Given the description of an element on the screen output the (x, y) to click on. 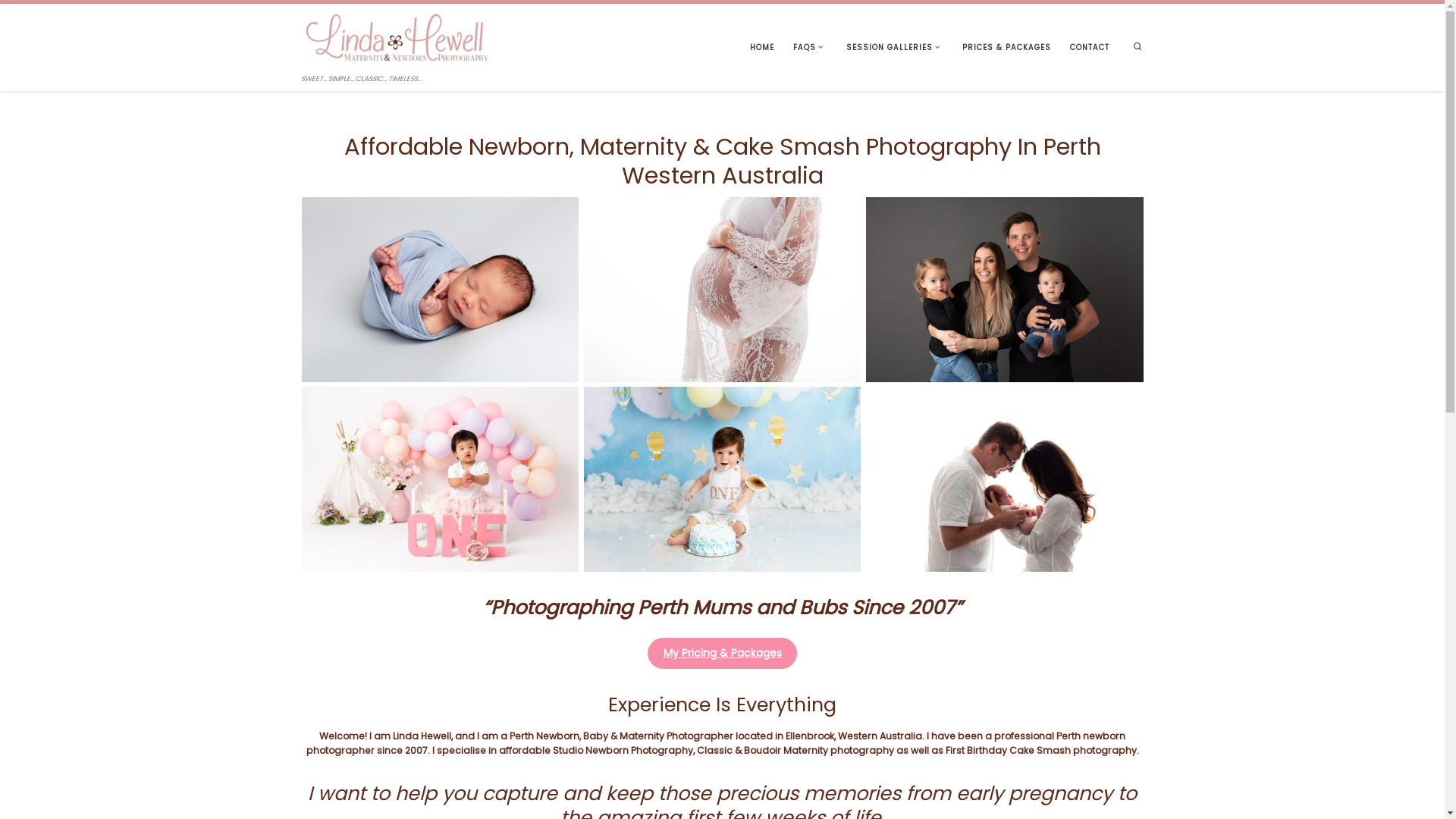
HOME Element type: text (762, 47)
CONTACT Element type: text (1089, 47)
Skip to content Element type: text (50, 20)
FAQS Element type: text (809, 47)
Search Element type: text (1137, 46)
PRICES & PACKAGES Element type: text (1006, 47)
My Pricing & Packages Element type: text (722, 652)
SESSION GALLERIES Element type: text (893, 47)
